Given the description of an element on the screen output the (x, y) to click on. 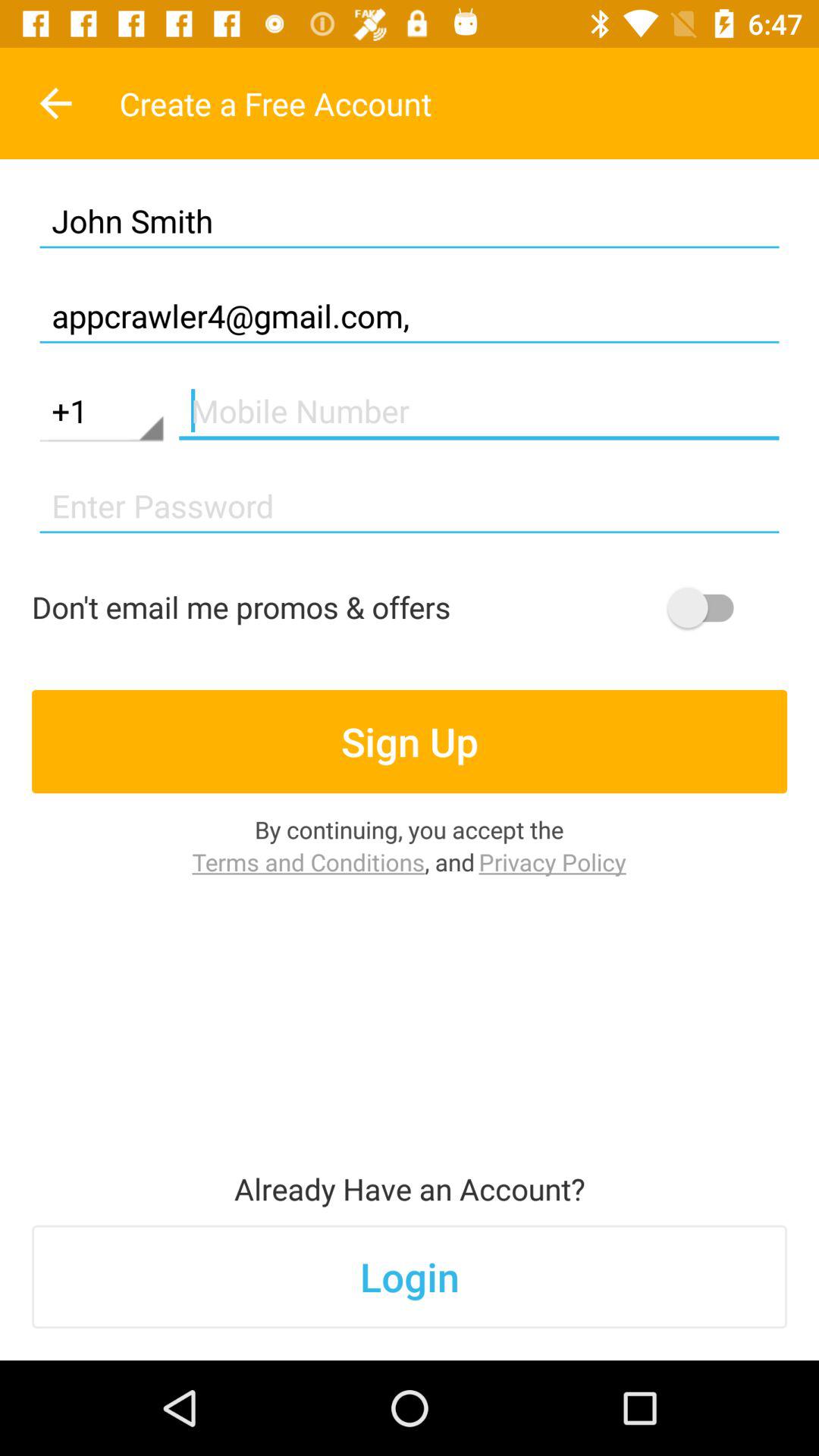
enter password (409, 506)
